Given the description of an element on the screen output the (x, y) to click on. 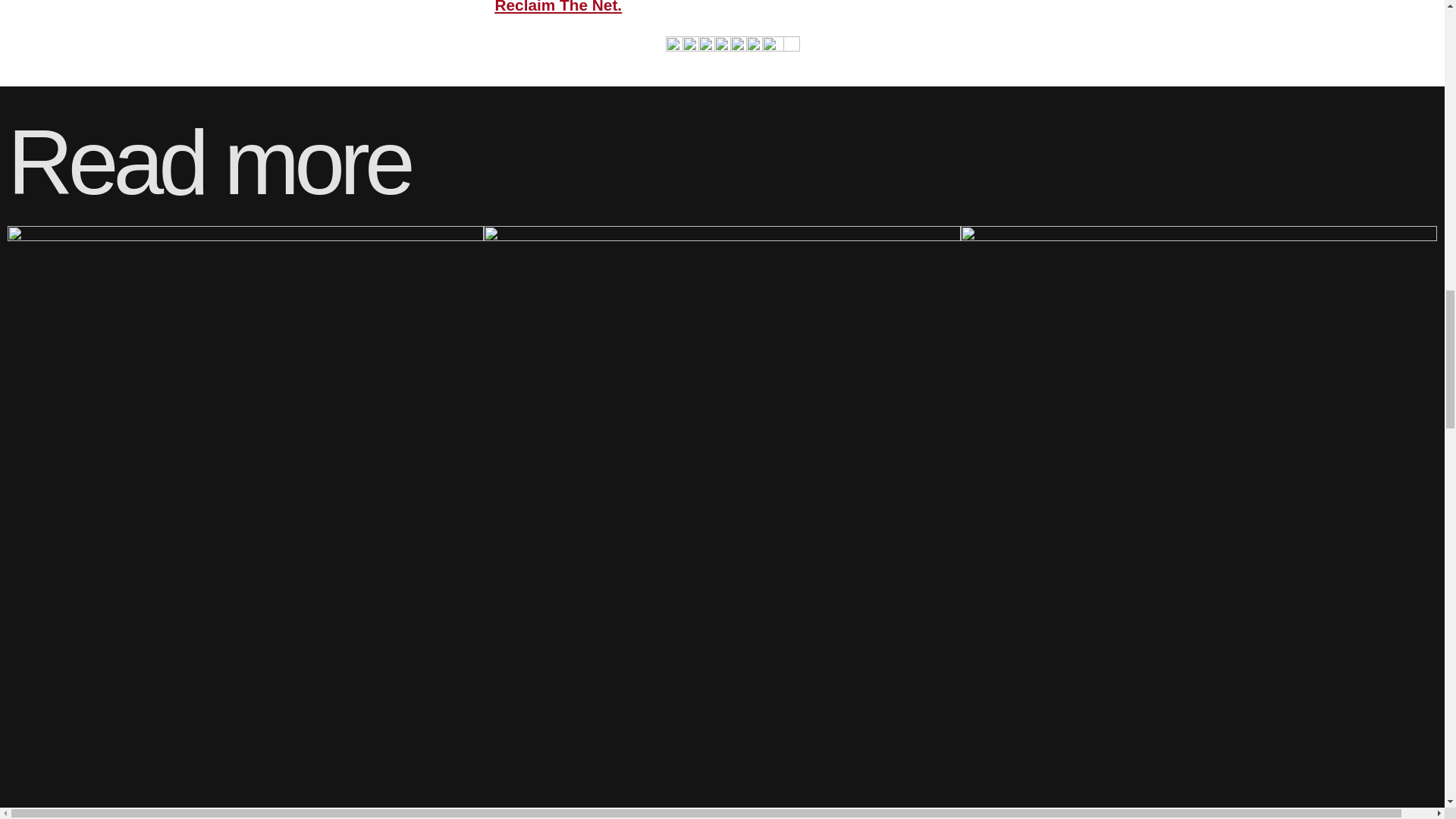
subscribe to Reclaim The Net. (714, 6)
